Given the description of an element on the screen output the (x, y) to click on. 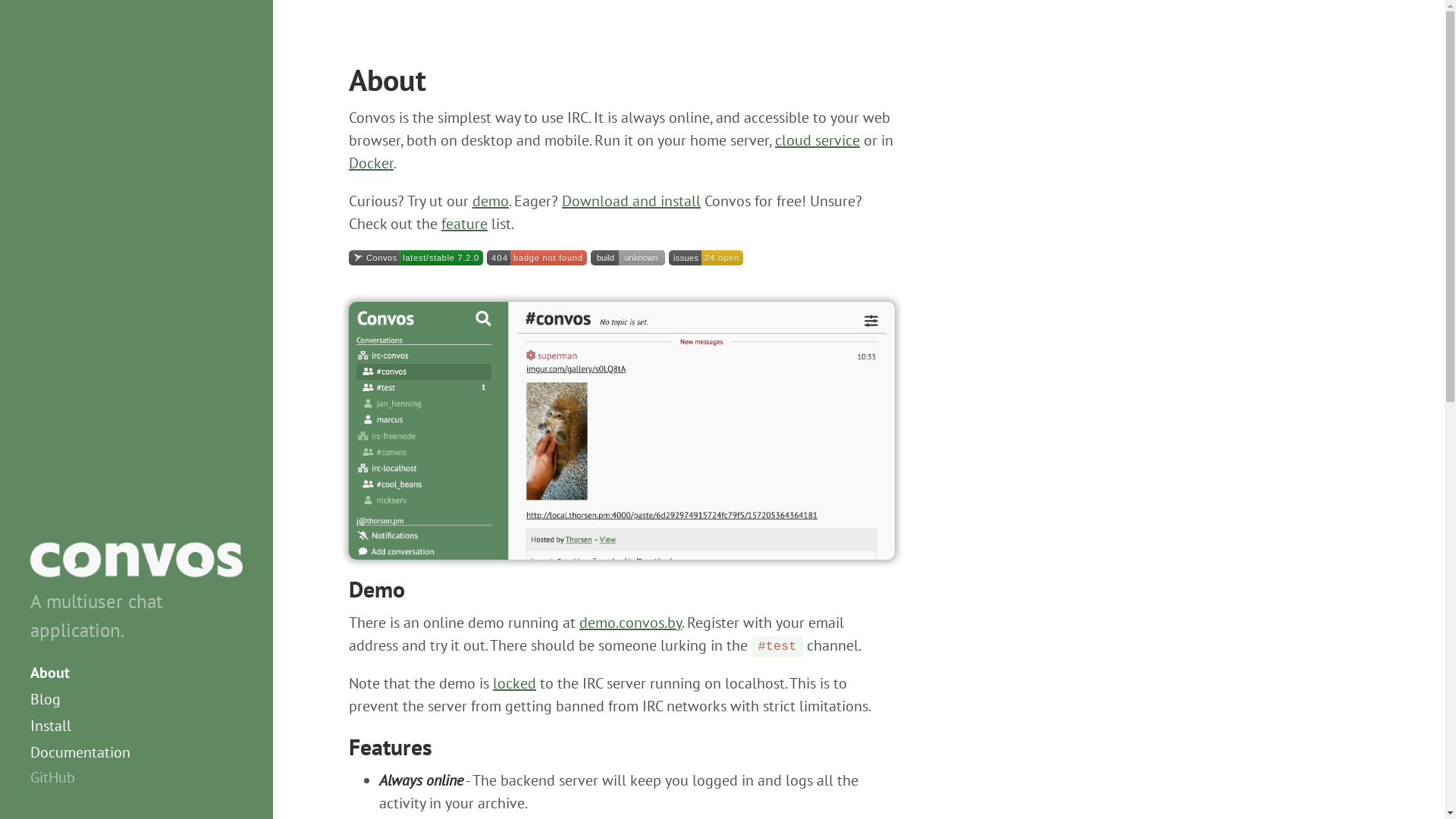
Blog Element type: text (134, 699)
demo.convos.by Element type: text (630, 622)
Docker Element type: text (370, 162)
Download and install Element type: text (630, 200)
Install Element type: text (134, 725)
feature Element type: text (464, 223)
Documentation Element type: text (134, 752)
demo Element type: text (490, 200)
locked Element type: text (514, 683)
cloud service Element type: text (817, 140)
About Element type: text (134, 672)
